Given the description of an element on the screen output the (x, y) to click on. 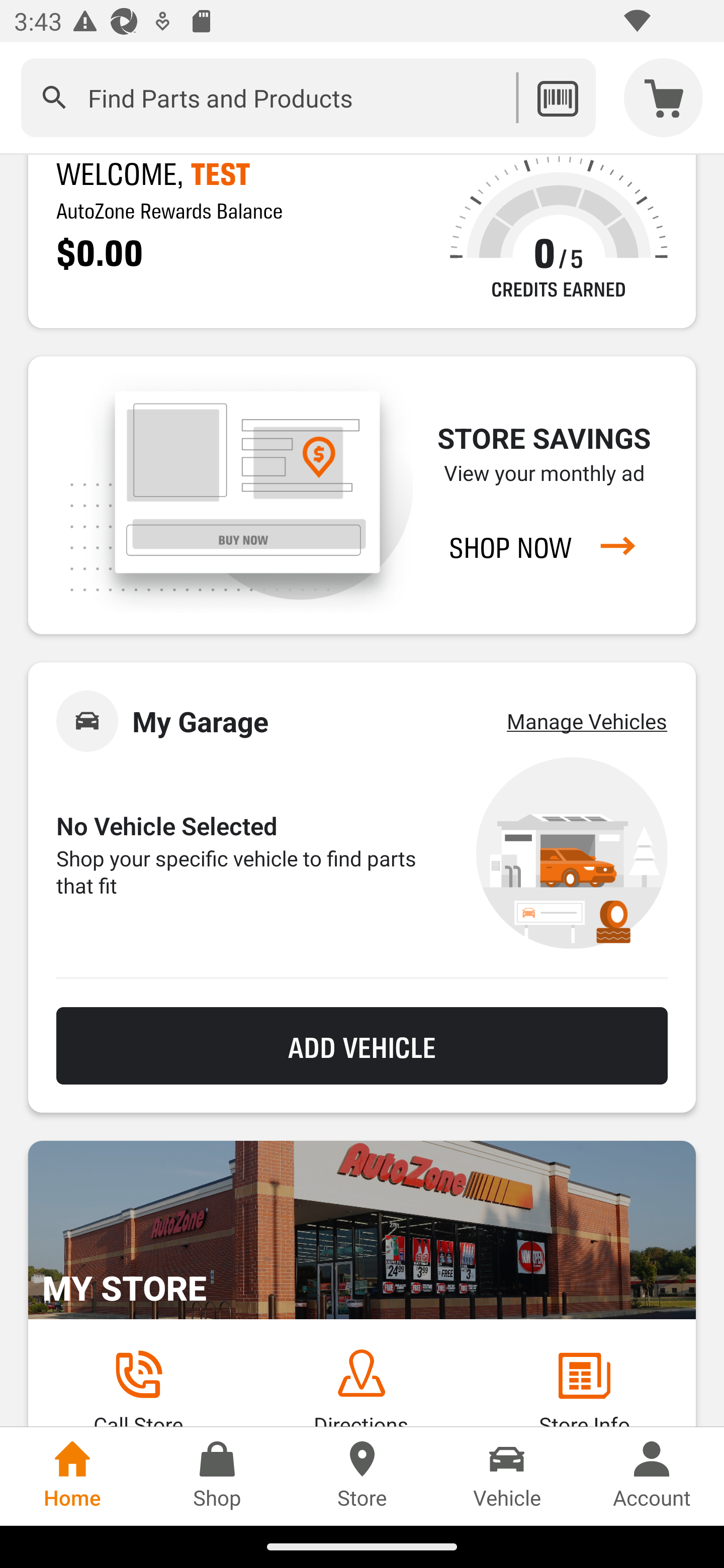
 scan-product-to-search  (557, 97)
 (54, 97)
Cart, no items  (663, 97)
Manage Vehicles (586, 721)
ADD VEHICLE (361, 1045)
Call Store  Call Store (138, 1386)
Directions  Directions (361, 1386)
Store Info  Store Info (584, 1386)
Home (72, 1475)
Shop (216, 1475)
Store (361, 1475)
Vehicle (506, 1475)
Account (651, 1475)
